Given the description of an element on the screen output the (x, y) to click on. 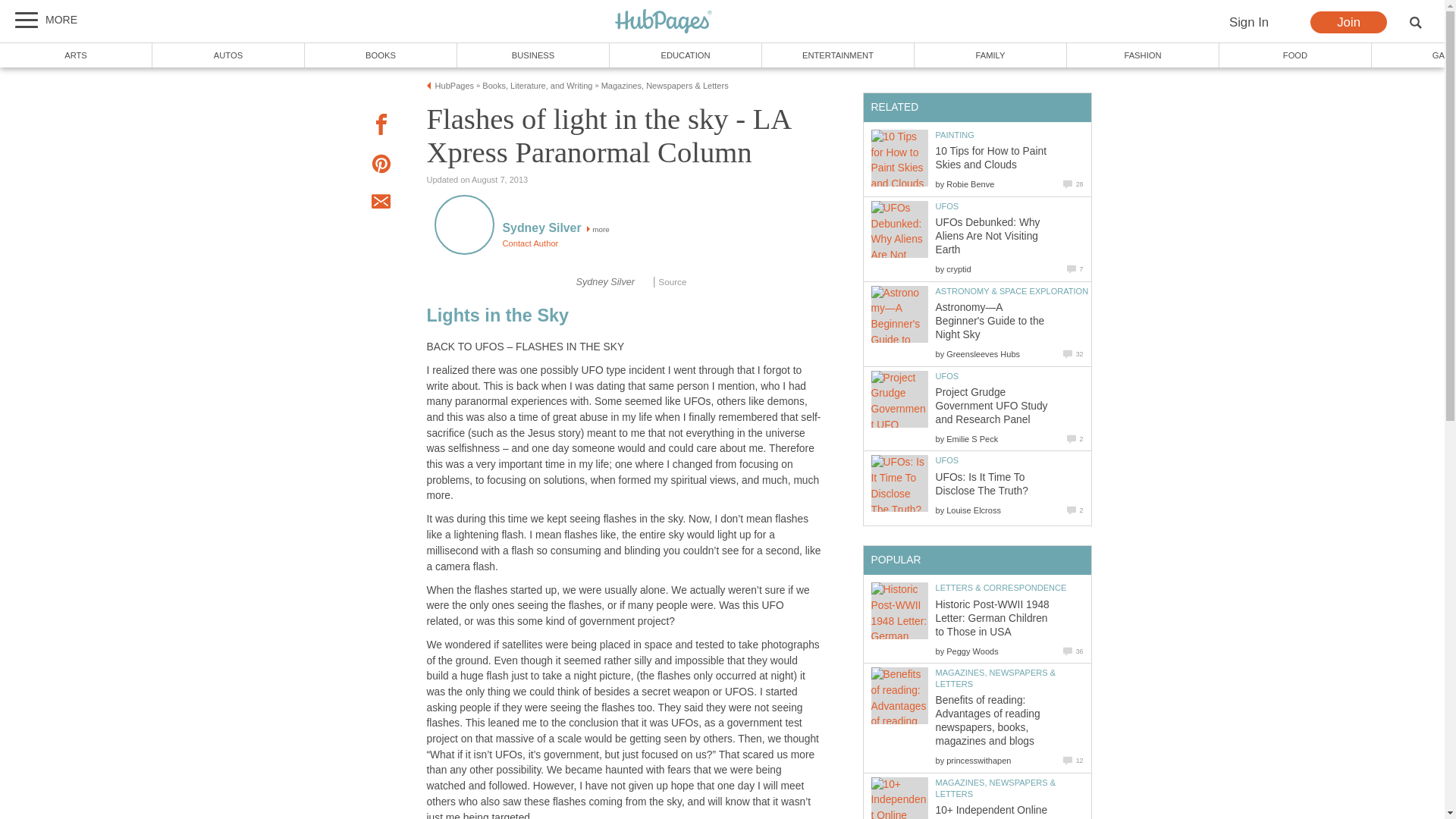
10 Tips for How to Paint Skies and Clouds (898, 160)
UFOS (947, 205)
Join (1348, 22)
UFOs: Is It Time To Disclose The Truth? (898, 486)
PAINTING (955, 134)
10 Tips for How to Paint Skies and Clouds (991, 157)
Books, Literature, and Writing (536, 85)
Email (380, 203)
BOOKS (380, 55)
HubPages (663, 21)
Contact Author (529, 243)
HubPages (454, 85)
AUTOS (228, 55)
FASHION (1143, 55)
EDUCATION (685, 55)
